Given the description of an element on the screen output the (x, y) to click on. 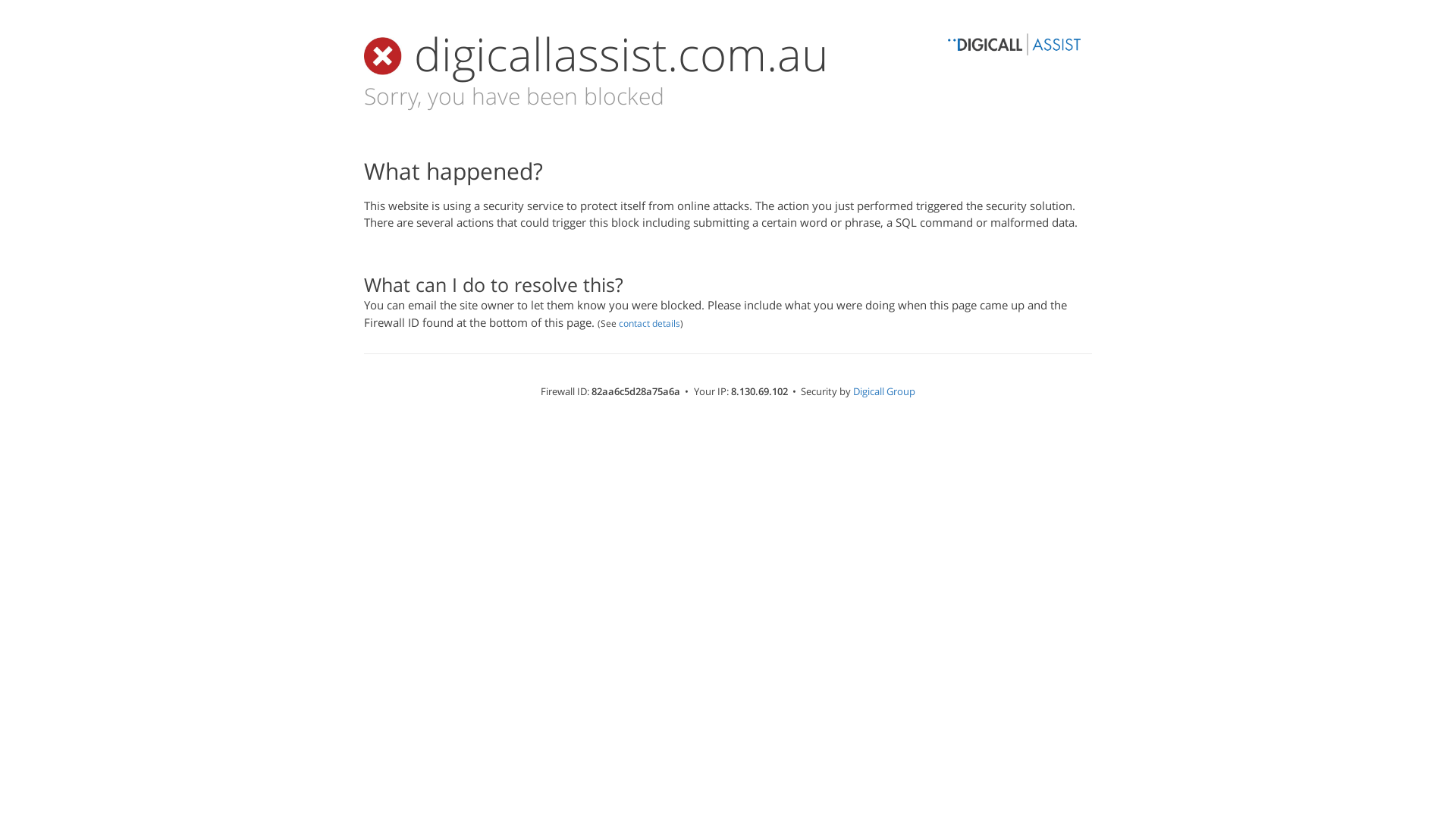
contact details Element type: text (649, 322)
Digicall Group Element type: text (884, 391)
